Given the description of an element on the screen output the (x, y) to click on. 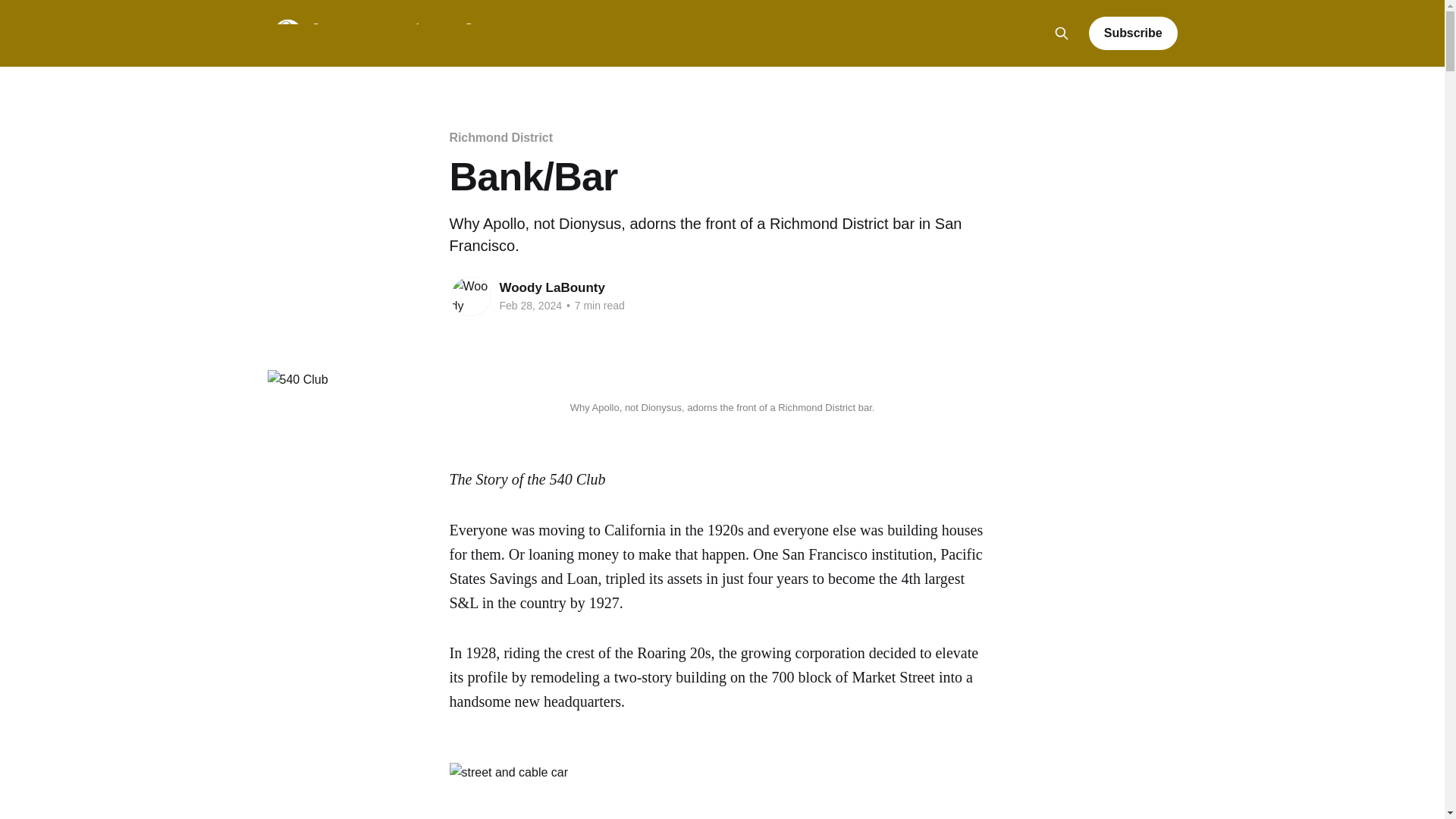
Richmond District (499, 137)
Subscribe (1133, 32)
Woody LaBounty (551, 287)
